Given the description of an element on the screen output the (x, y) to click on. 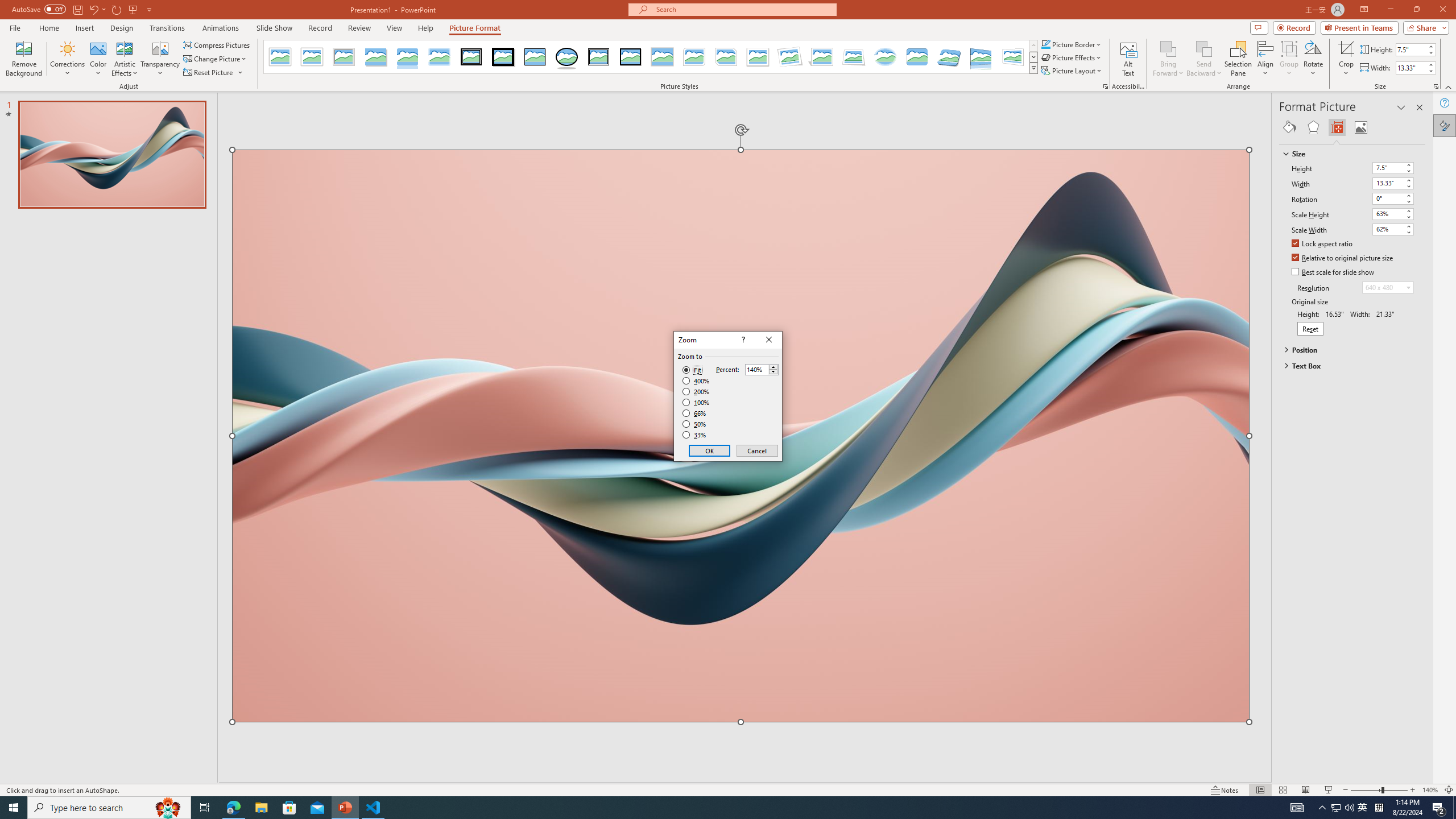
Size (1347, 153)
Bevel Perspective Left, White (1013, 56)
400% (696, 380)
Selection Pane... (1238, 58)
Moderate Frame, Black (630, 56)
Bring Forward (1168, 48)
Shape Height (1410, 49)
